Given the description of an element on the screen output the (x, y) to click on. 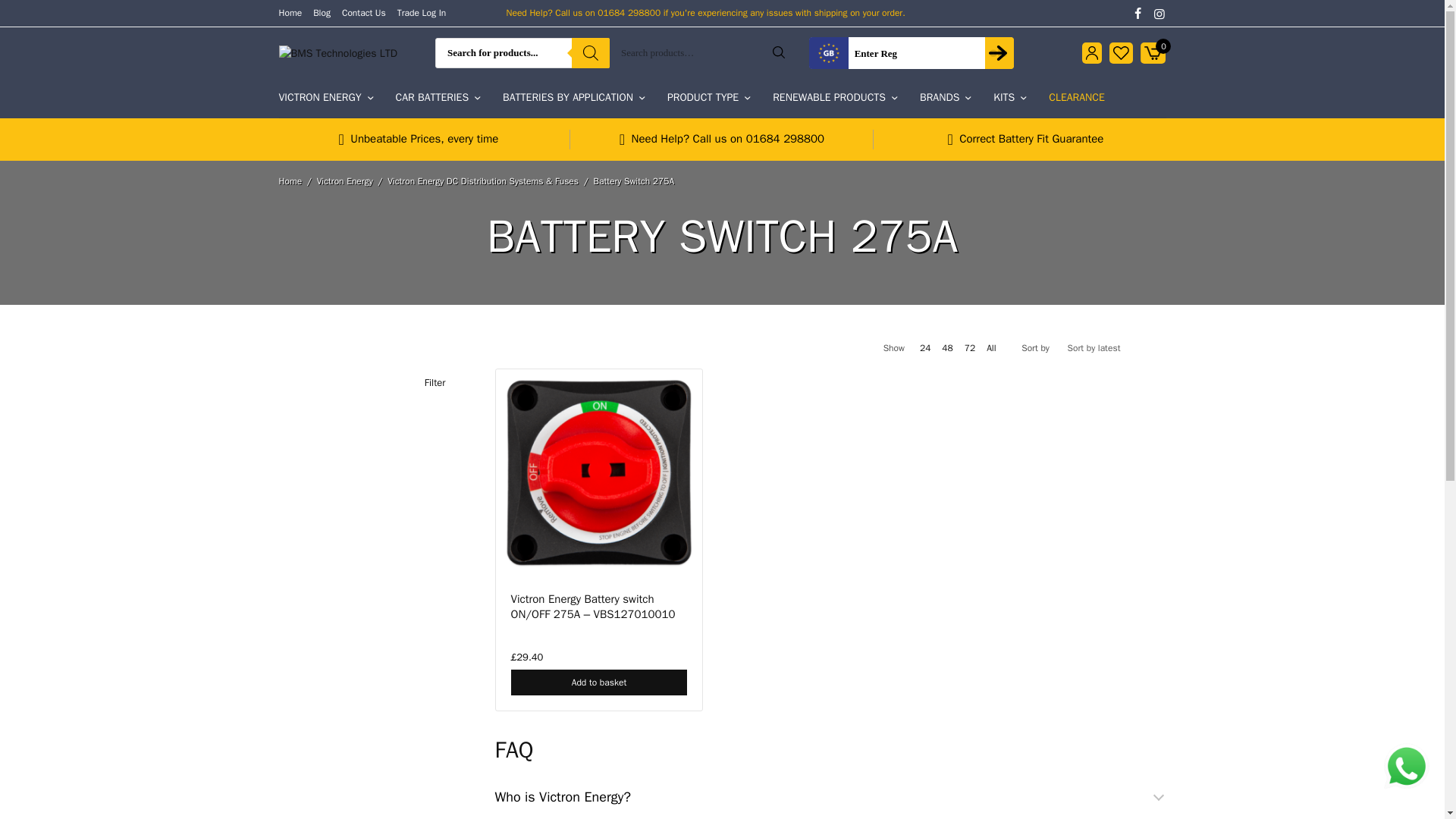
Contact Us (363, 12)
Home (290, 12)
Search (778, 51)
BMS Technologies LTD (338, 53)
Wishlist (1120, 52)
Trade Log In (421, 12)
VICTRON ENERGY (325, 97)
My Account (1091, 52)
